Given the description of an element on the screen output the (x, y) to click on. 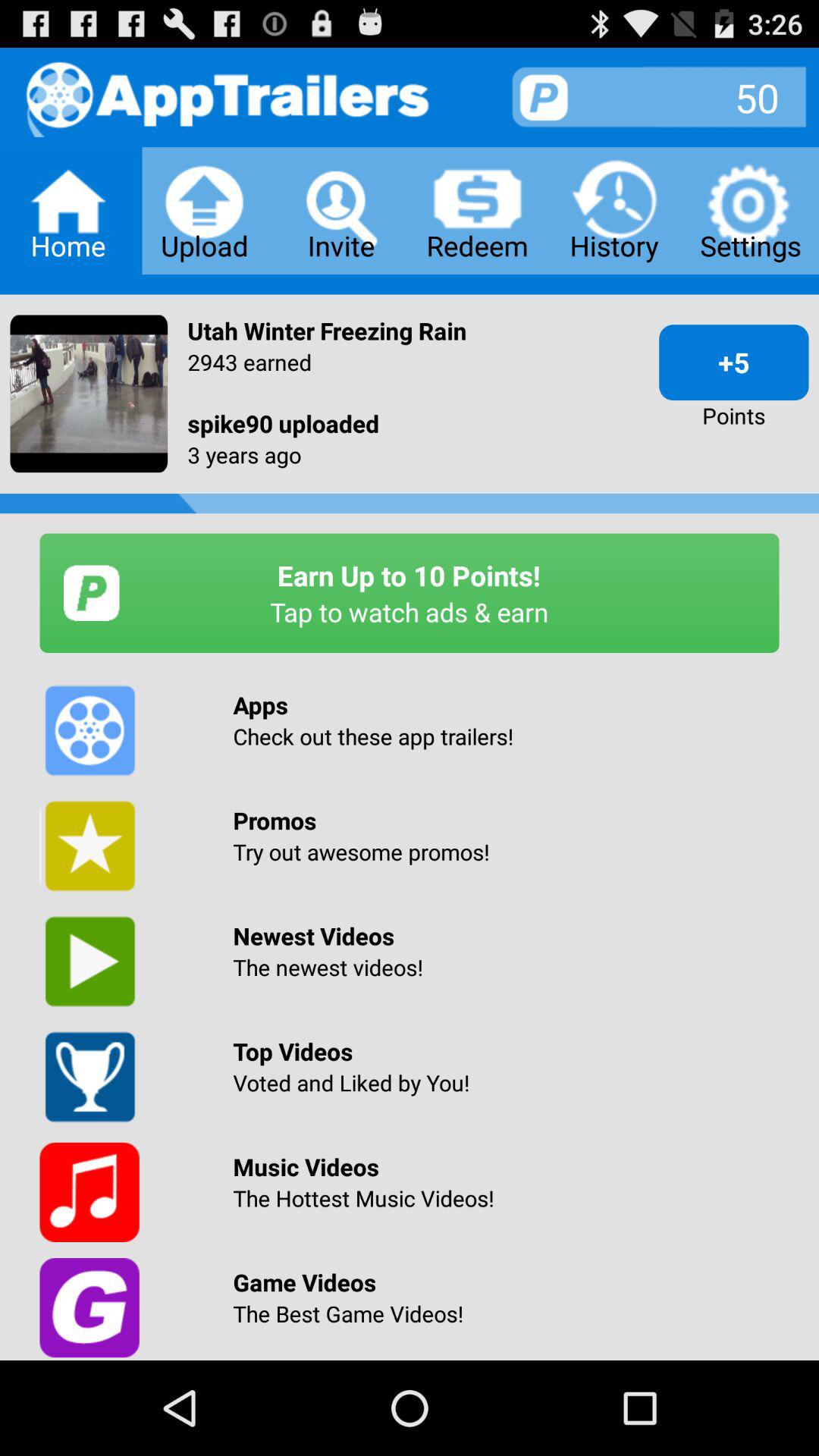
go to upload (205, 211)
